Given the description of an element on the screen output the (x, y) to click on. 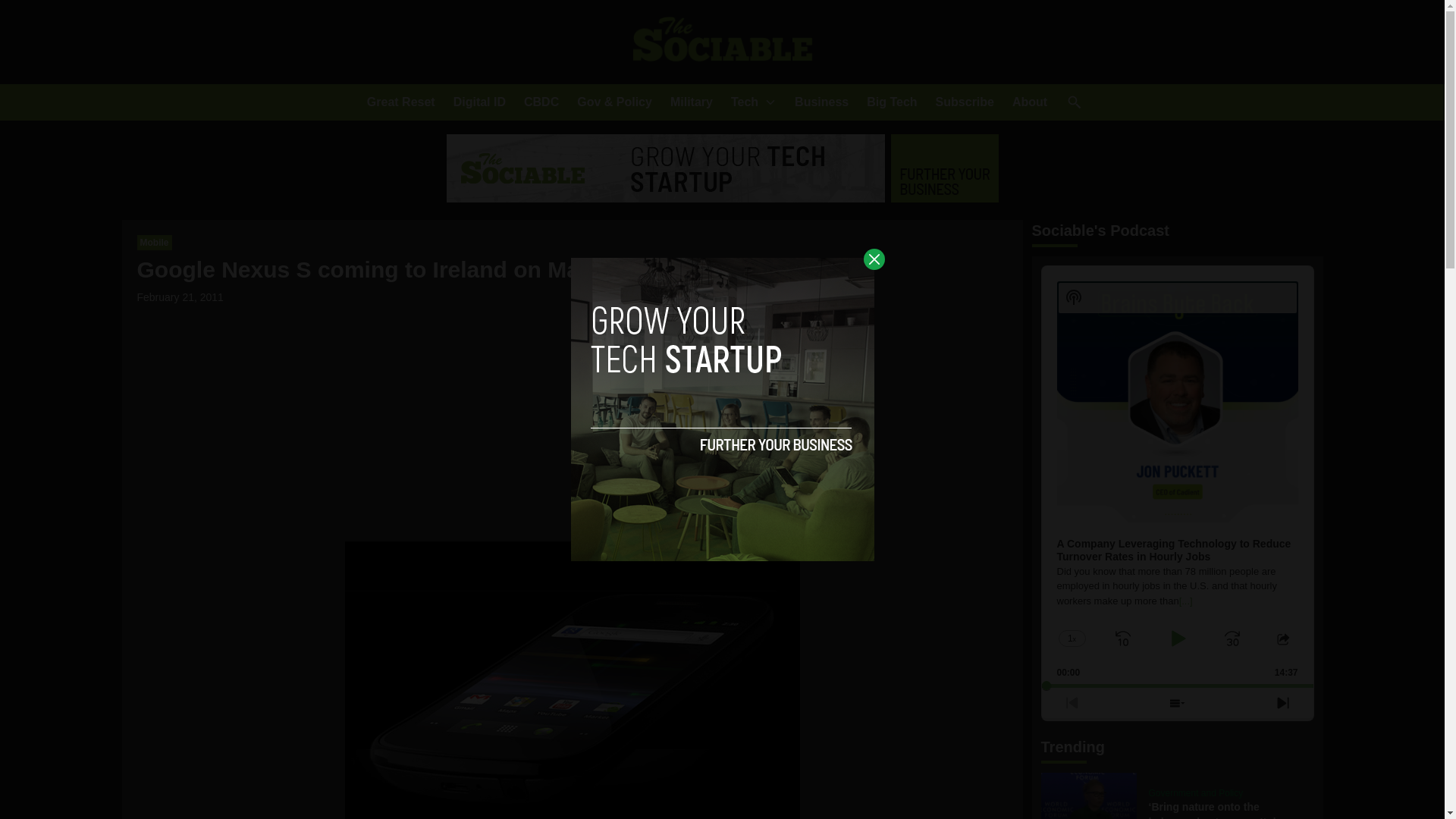
Tech (744, 102)
Big Tech (891, 102)
Great Reset (400, 102)
Subscribe (965, 102)
Digital ID (478, 102)
Business (821, 102)
Military (691, 102)
CBDC (541, 102)
Mobile (153, 242)
About (1028, 102)
